Given the description of an element on the screen output the (x, y) to click on. 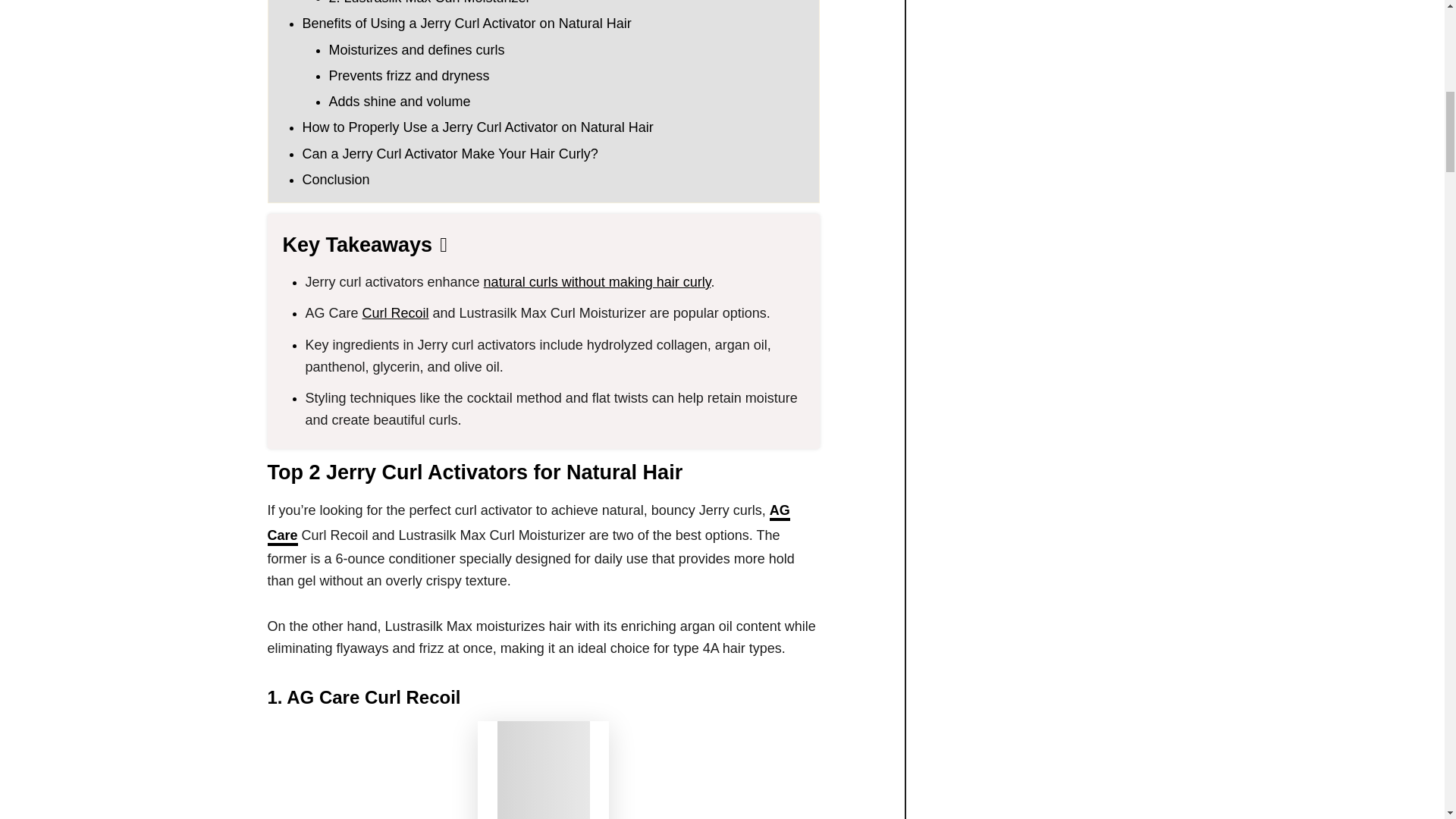
AG Care (527, 524)
Can a Jerry Curl Activator Make Your Hair Curly? (448, 153)
Benefits of Using a Jerry Curl Activator on Natural Hair (465, 23)
Conclusion (335, 179)
VIEW ON AMAZON (542, 770)
natural curls without making hair curly (597, 281)
Adds shine and volume (399, 101)
How to Properly Use a Jerry Curl Activator on Natural Hair (476, 127)
AG Care Curl Re:coil Curl (542, 770)
Moisturizes and defines curls (417, 49)
